Given the description of an element on the screen output the (x, y) to click on. 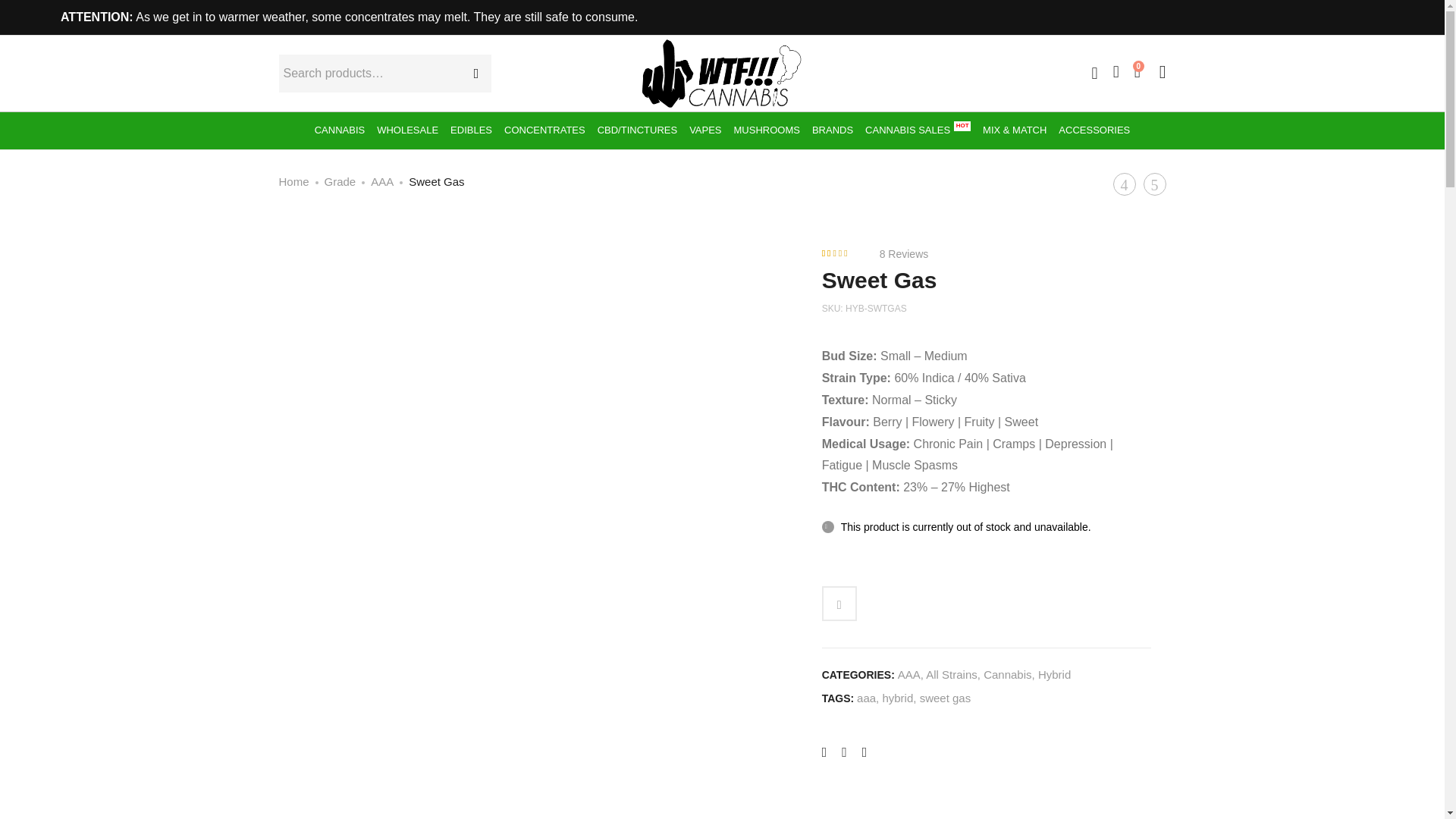
CONCENTRATES (544, 130)
CANNABIS (339, 130)
Search (472, 73)
EDIBLES (470, 130)
WHOLESALE (407, 130)
VAPES (704, 130)
